Given the description of an element on the screen output the (x, y) to click on. 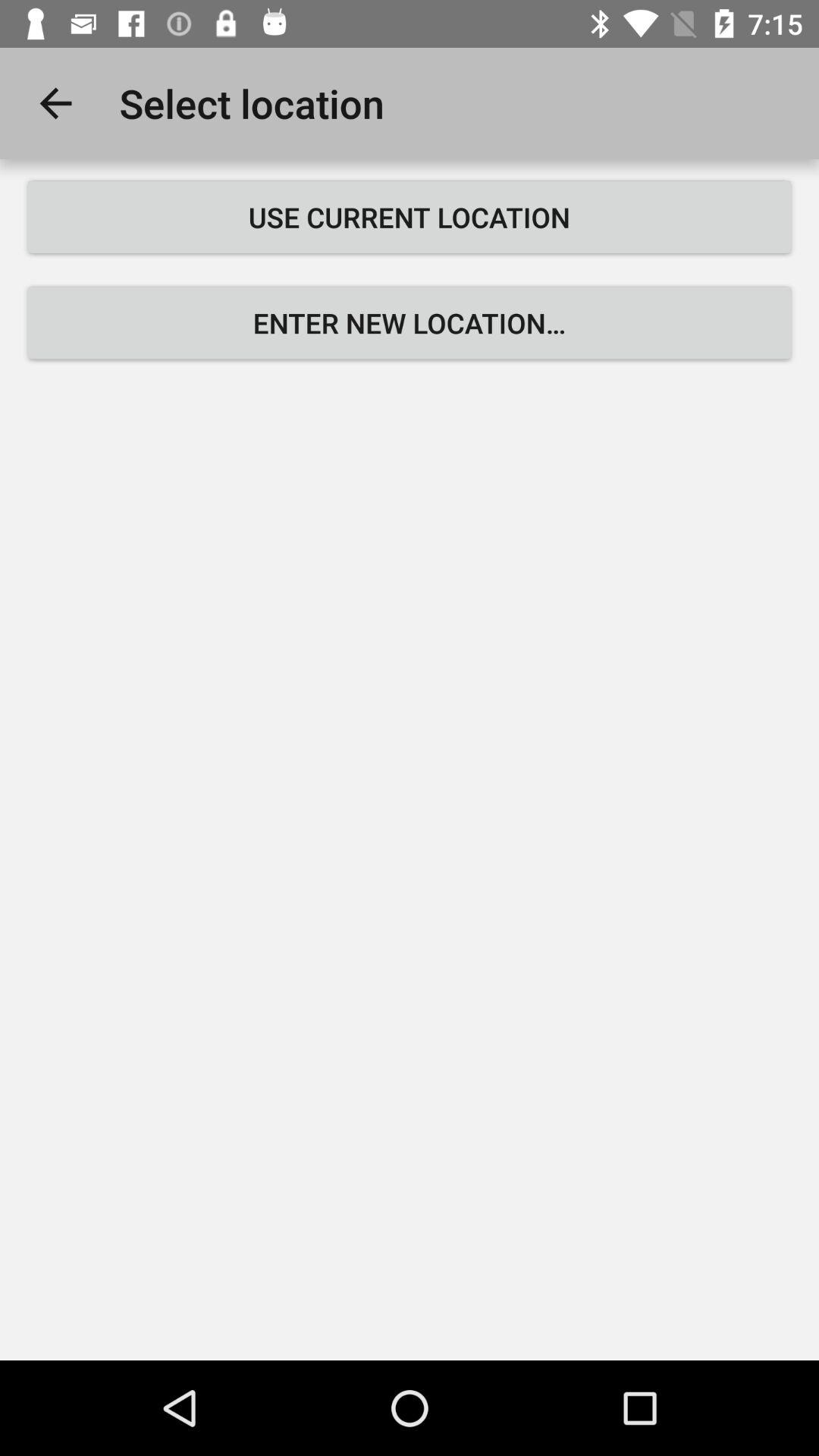
choose app next to the select location item (55, 103)
